Given the description of an element on the screen output the (x, y) to click on. 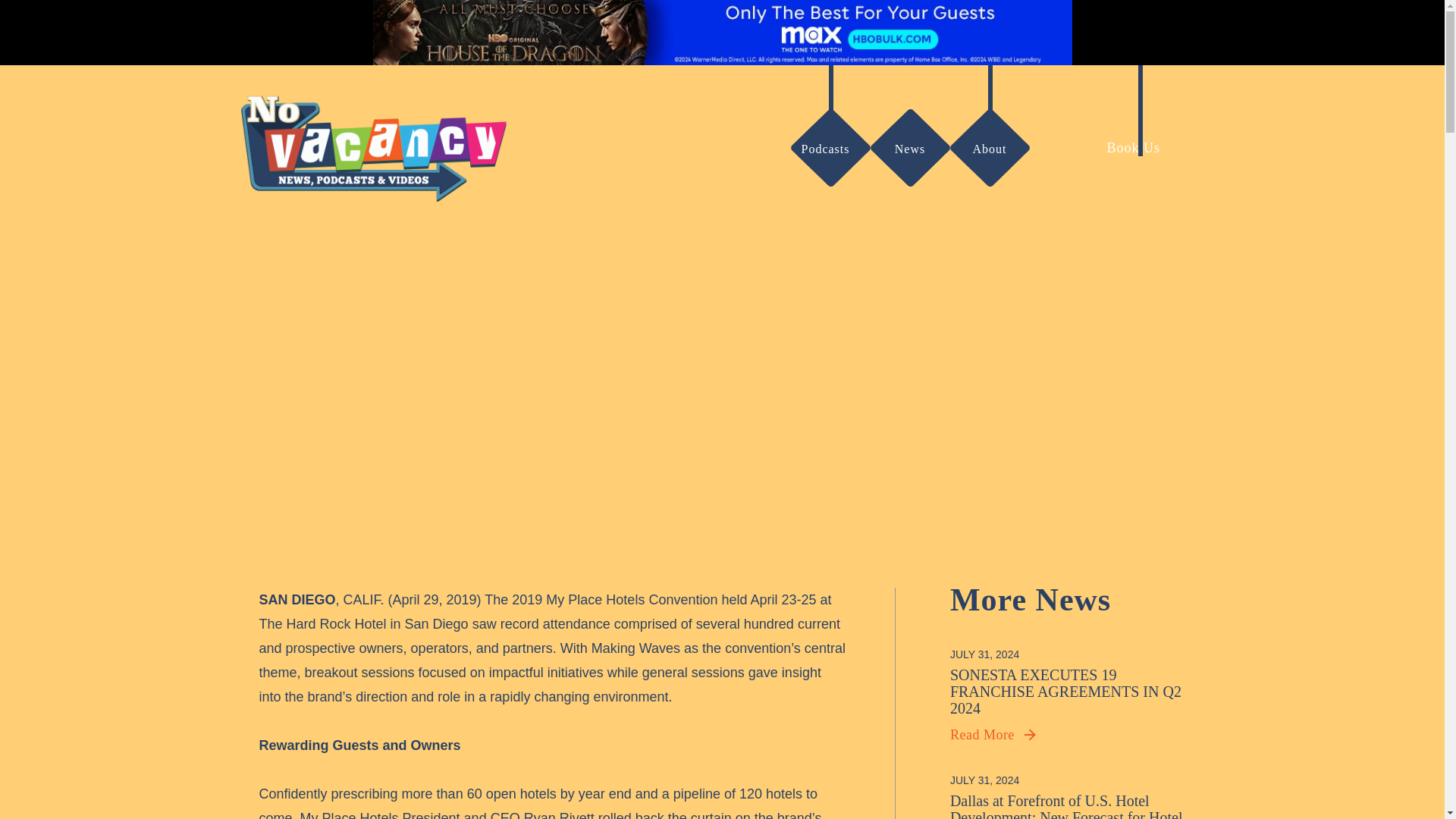
SONESTA EXECUTES 19 FRANCHISE AGREEMENTS IN Q2 2024 (1068, 691)
News (910, 149)
Book Us (1140, 147)
Read More (994, 734)
Podcasts (822, 149)
About (989, 149)
